Given the description of an element on the screen output the (x, y) to click on. 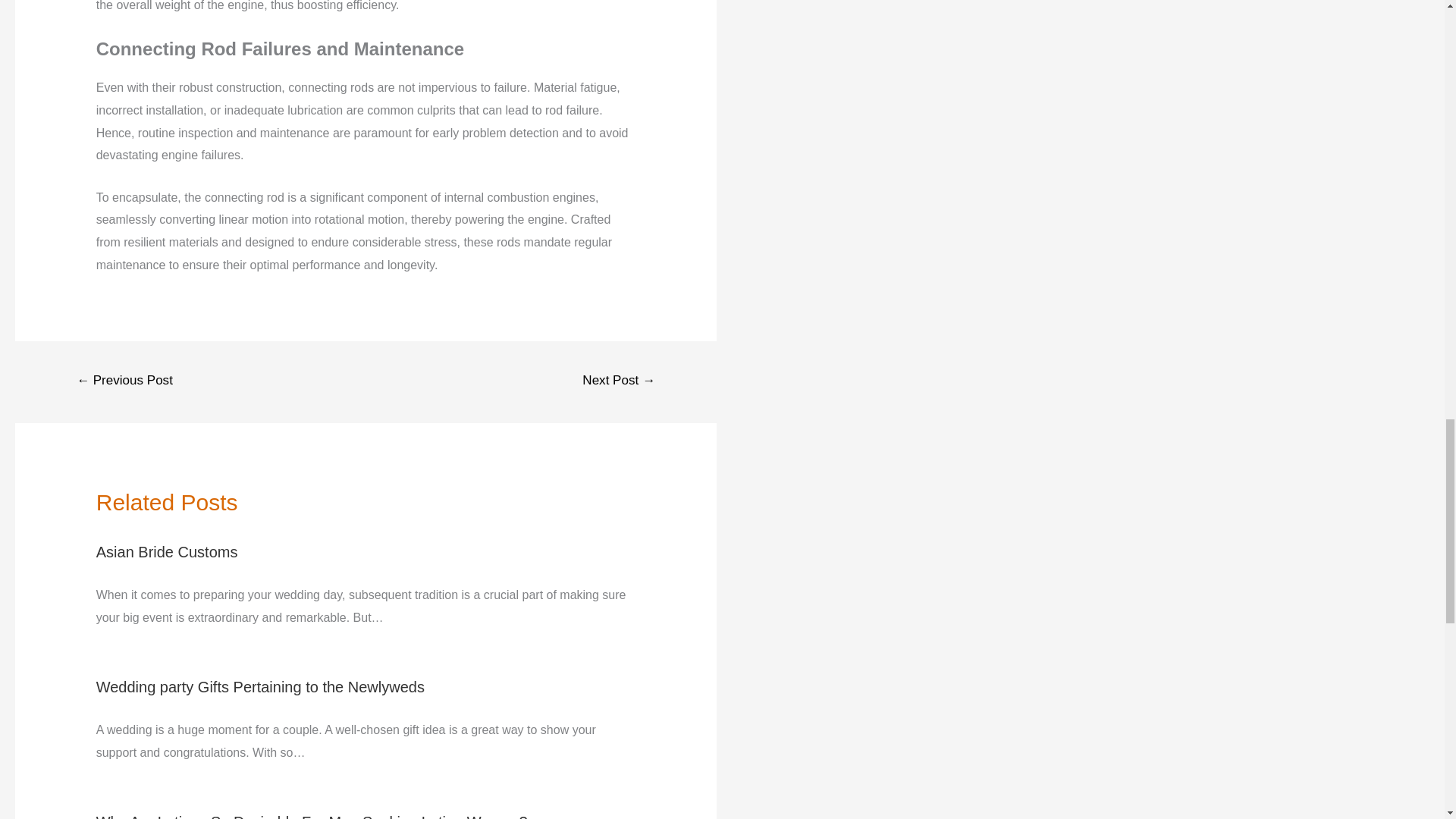
Why Are Latinas So Desirable For Men Seeking Latino Woman? (311, 816)
Asian Bride Customs (167, 551)
Wedding party Gifts Pertaining to the Newlyweds (260, 686)
